Given the description of an element on the screen output the (x, y) to click on. 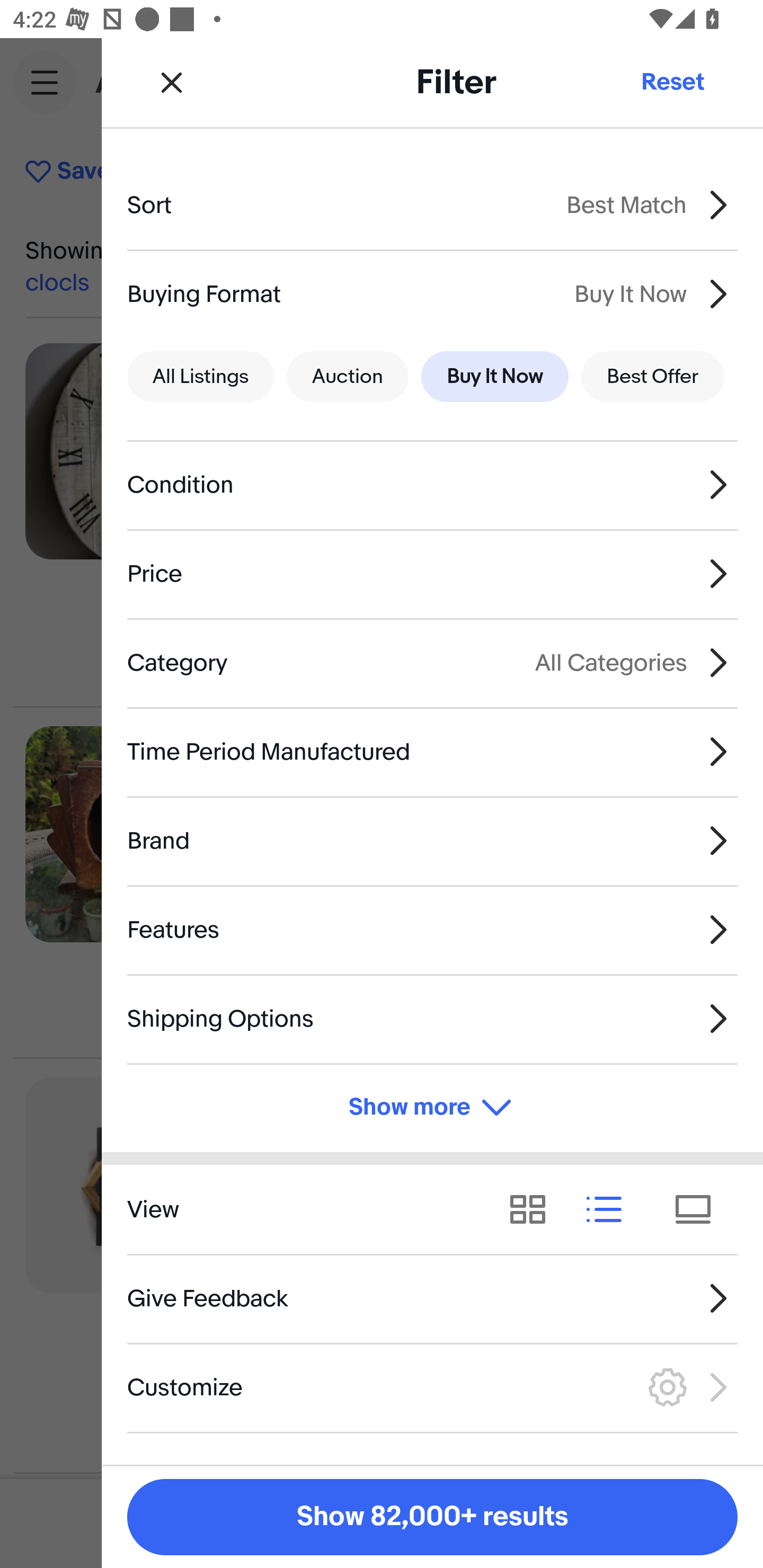
Close Filter (171, 81)
Reset (672, 81)
Buying Format Buy It Now (432, 293)
All Listings (200, 376)
Auction (347, 376)
Buy It Now (494, 376)
Best Offer (652, 376)
Condition (432, 484)
Price (432, 573)
Category All Categories (432, 662)
Time Period Manufactured (432, 751)
Brand (432, 840)
Features (432, 929)
Shipping Options (432, 1018)
Show more (432, 1107)
View results as grid (533, 1209)
View results as list (610, 1209)
View results as tiles (699, 1209)
Customize (432, 1386)
Show 82,000+ results (432, 1516)
